Given the description of an element on the screen output the (x, y) to click on. 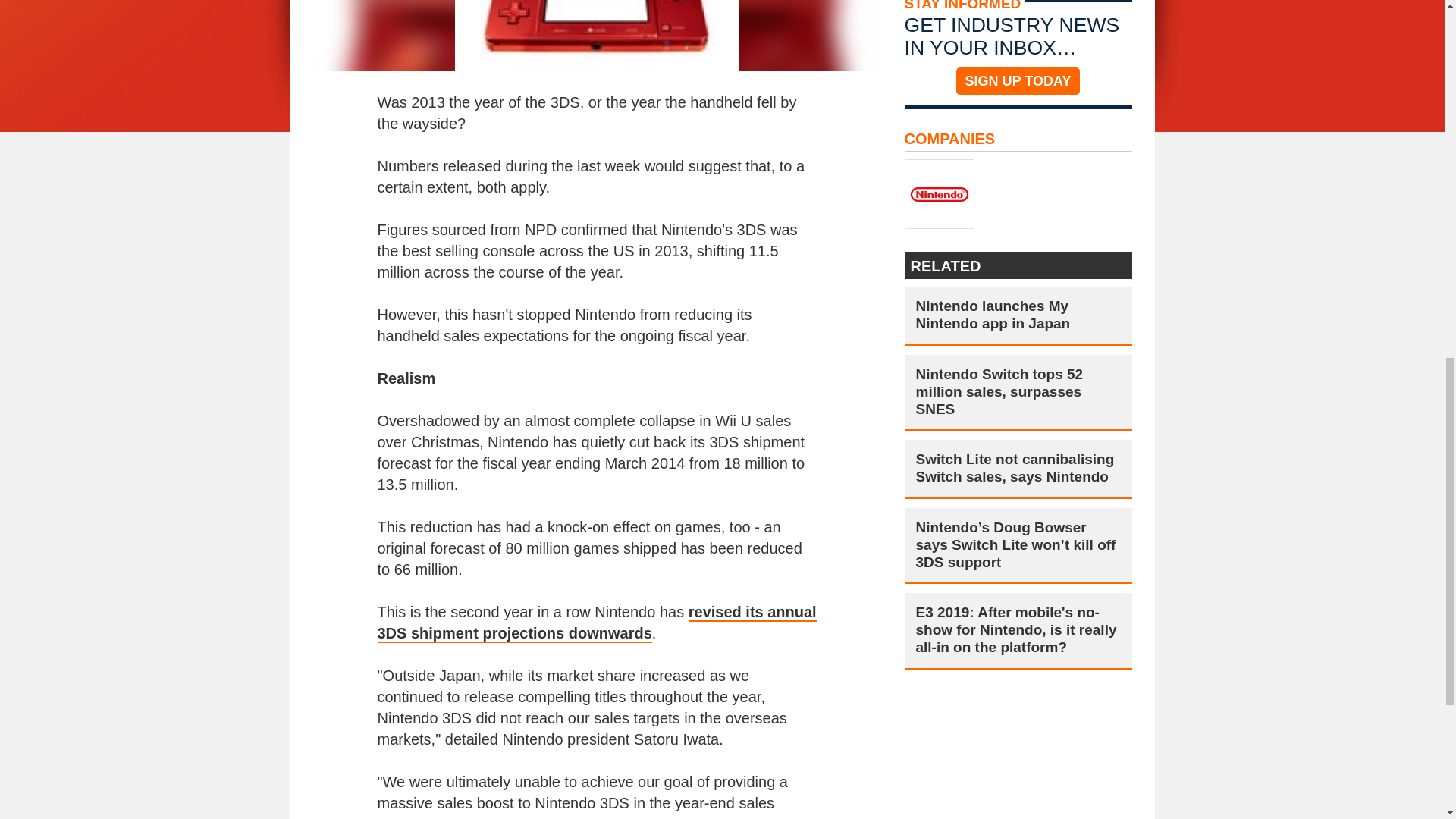
revised its annual 3DS shipment projections downwards (596, 622)
Nintendo Switch tops 52 million sales, surpasses SNES (1017, 391)
Switch Lite not cannibalising Switch sales, says Nintendo (1017, 468)
Nintendo launches My Nintendo app in Japan (1017, 314)
